Given the description of an element on the screen output the (x, y) to click on. 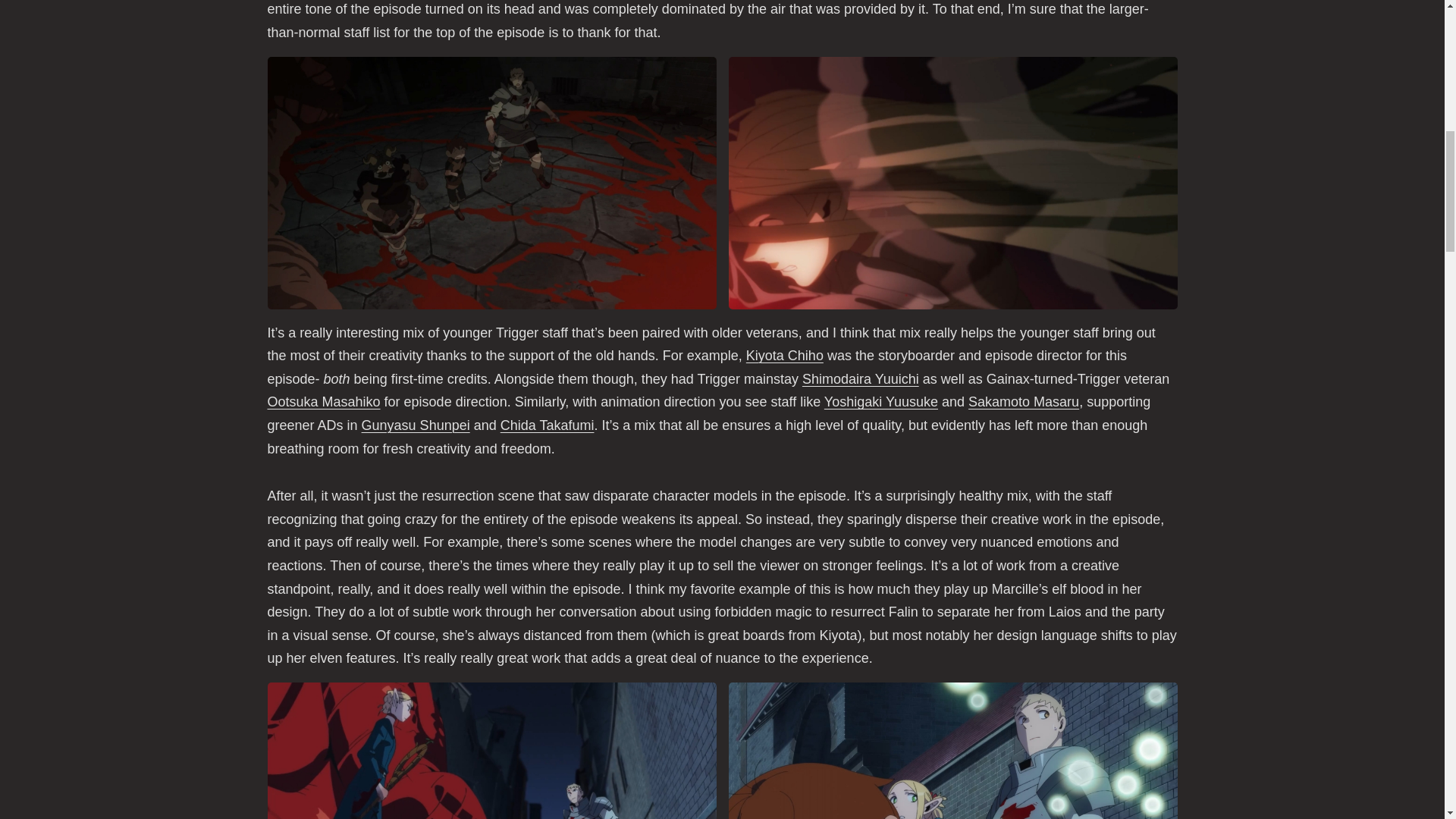
Chida Takafumi (547, 425)
Gunyasu Shunpei (415, 425)
Sakamoto Masaru (1023, 401)
Ootsuka Masahiko (323, 401)
Yoshigaki Yuusuke (880, 401)
Shimodaira Yuuichi (860, 378)
Kiyota Chiho (784, 355)
